Given the description of an element on the screen output the (x, y) to click on. 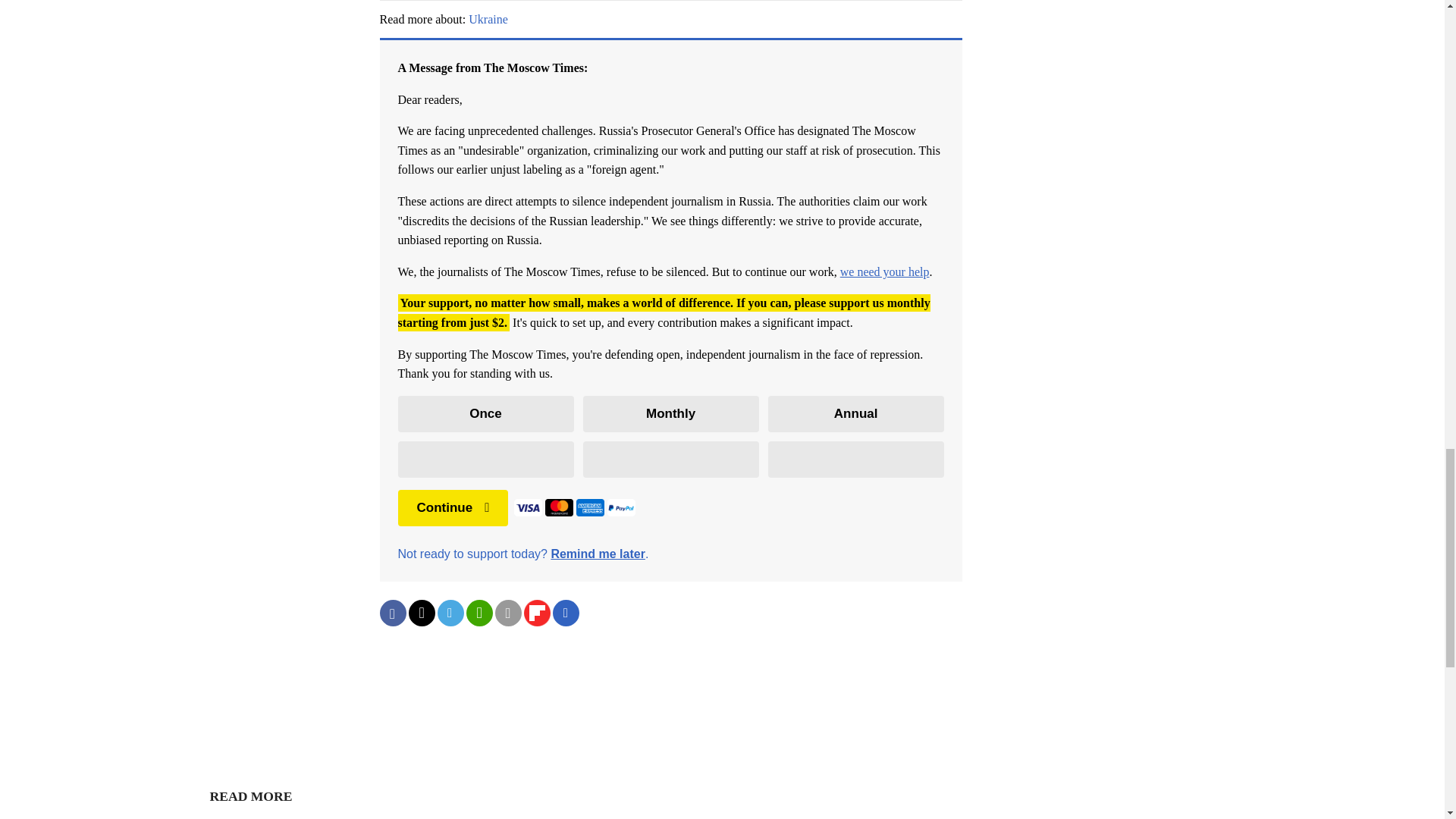
Share on Facebook (392, 612)
Share on Twitter (420, 612)
we need your help (885, 271)
Share on Flipboard (536, 612)
Ukraine (488, 19)
Share on Telegram (449, 612)
